Given the description of an element on the screen output the (x, y) to click on. 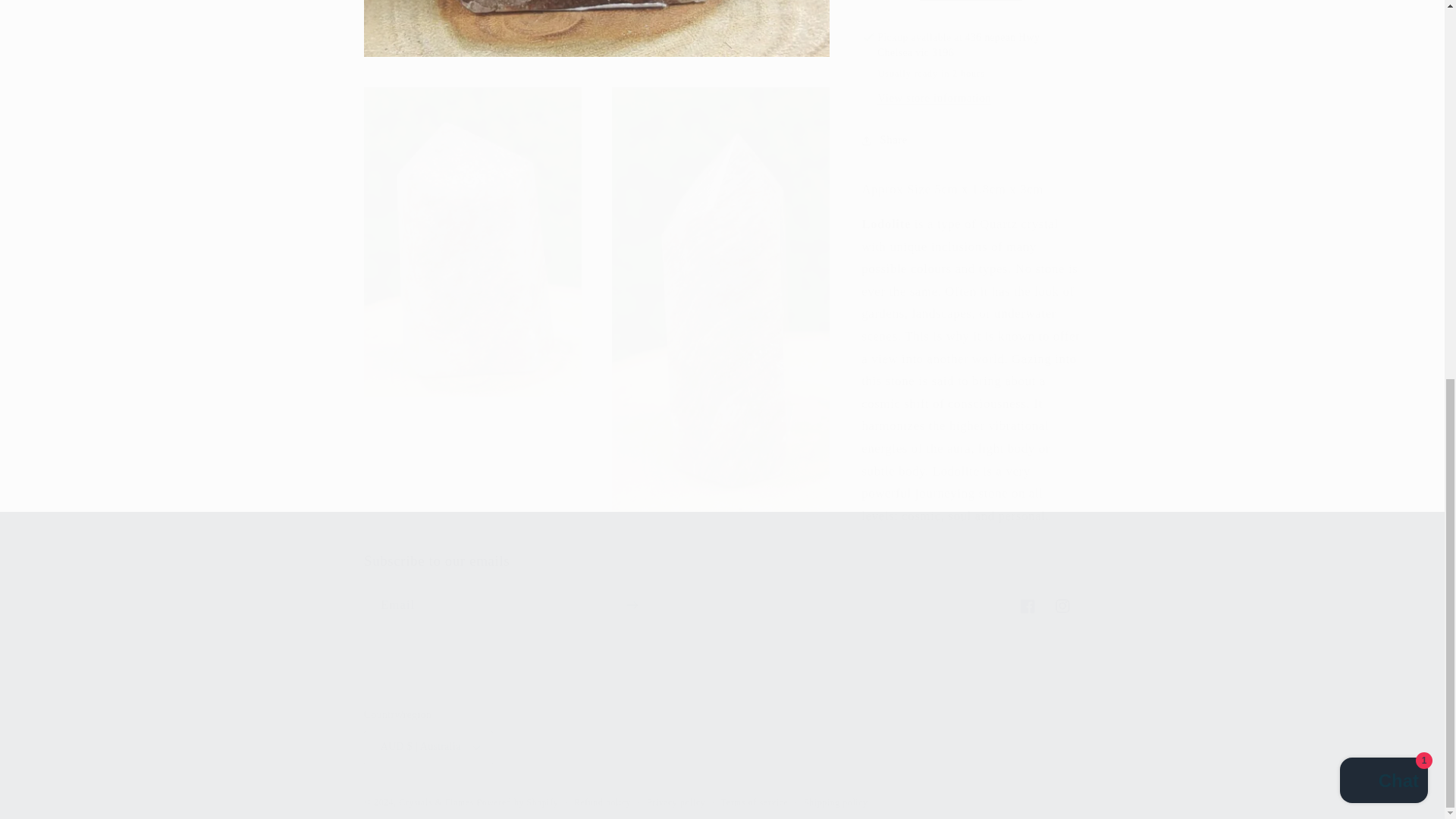
Shopify online store chat (1383, 79)
Open media 1 in modal (596, 20)
